Given the description of an element on the screen output the (x, y) to click on. 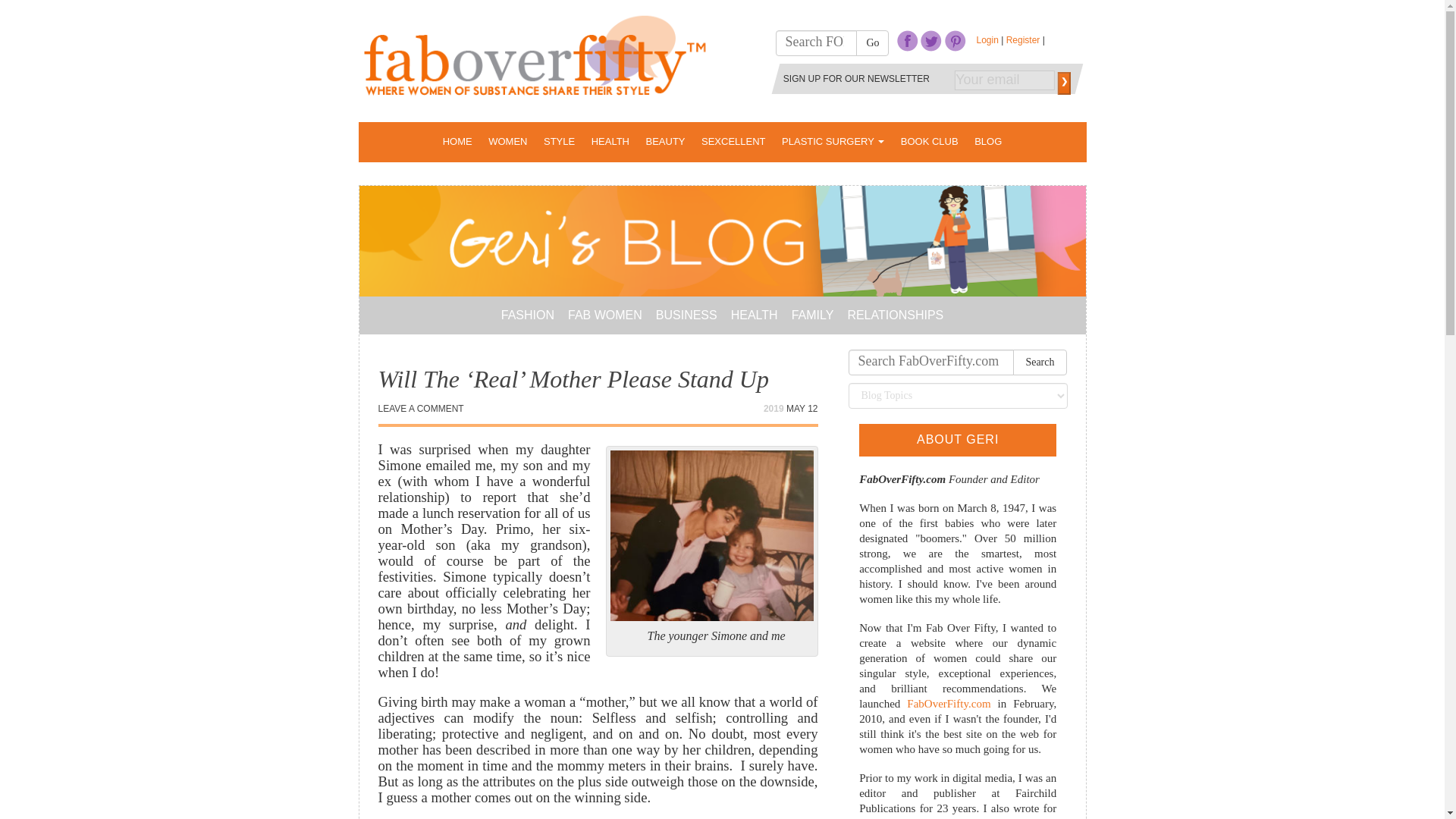
BOOK CLUB (929, 141)
BLOG (987, 141)
Search (1040, 362)
FAMILY (813, 315)
Go (872, 43)
WOMEN (507, 141)
HEALTH (753, 315)
LEAVE A COMMENT (420, 408)
FAB WOMEN (604, 315)
BEAUTY (665, 141)
Register (1024, 40)
SEXCELLENT (733, 141)
BUSINESS (686, 315)
FASHION (527, 315)
HOME (456, 141)
